Given the description of an element on the screen output the (x, y) to click on. 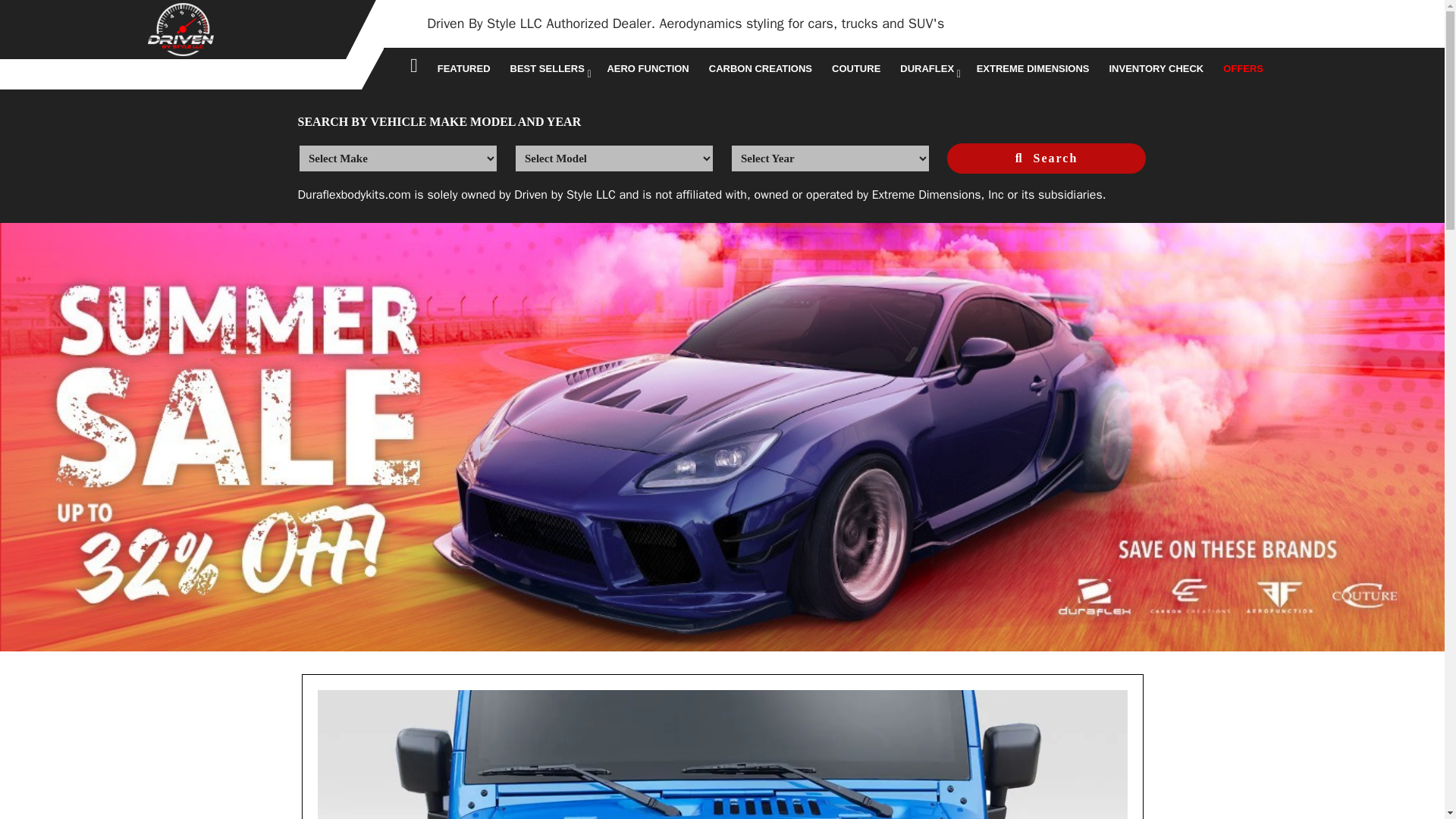
Search (1046, 158)
CARBON CREATIONS (760, 68)
Driven by Style LLC (564, 194)
INVENTORY CHECK (1155, 68)
EXTREME DIMENSIONS (1033, 68)
FEATURED (463, 68)
COUTURE (855, 68)
DURAFLEX (927, 68)
BEST SELLERS (548, 68)
AERO FUNCTION (646, 68)
OFFERS (1243, 68)
